Given the description of an element on the screen output the (x, y) to click on. 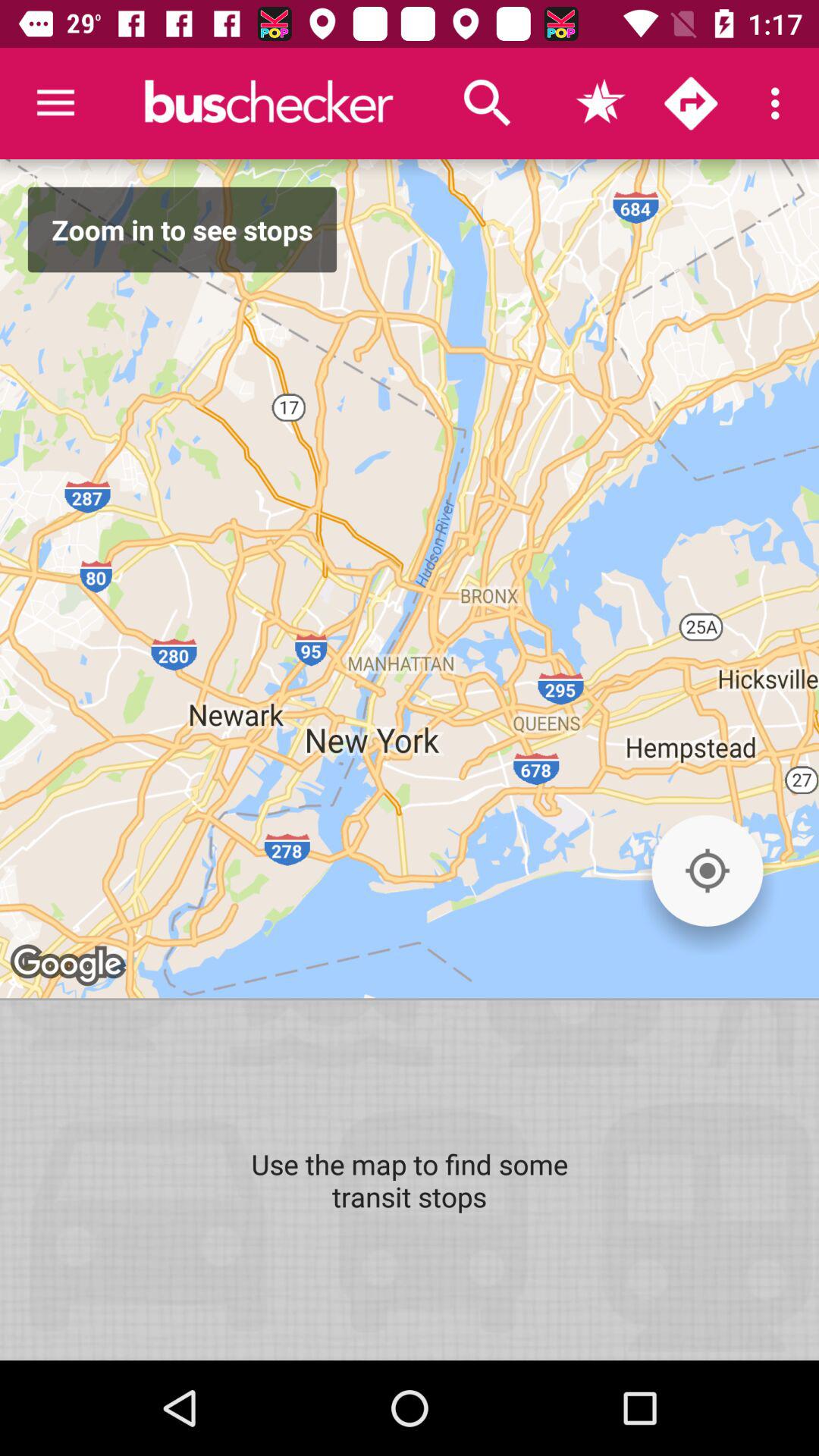
get directions (690, 103)
